Given the description of an element on the screen output the (x, y) to click on. 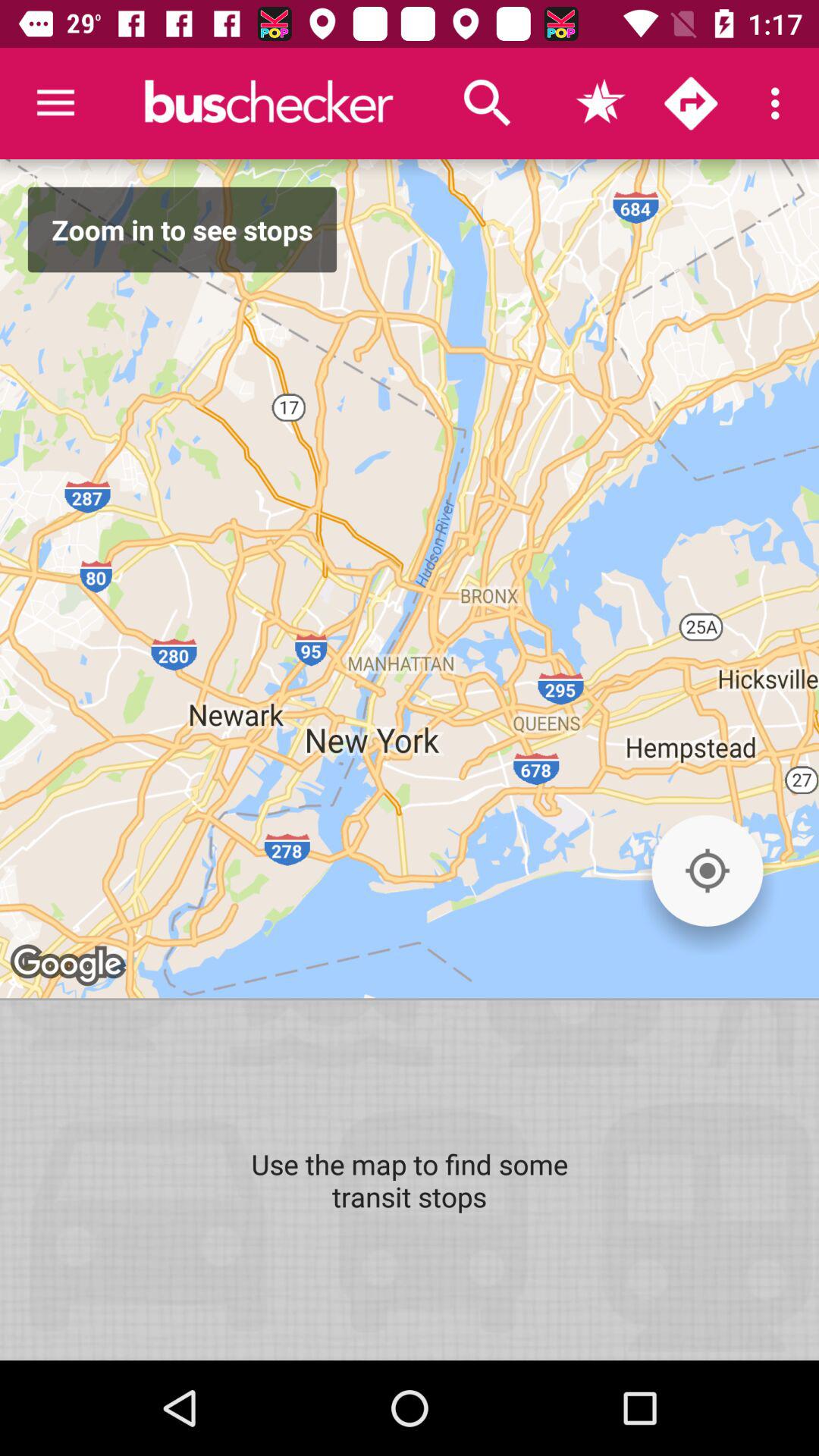
get directions (690, 103)
